Given the description of an element on the screen output the (x, y) to click on. 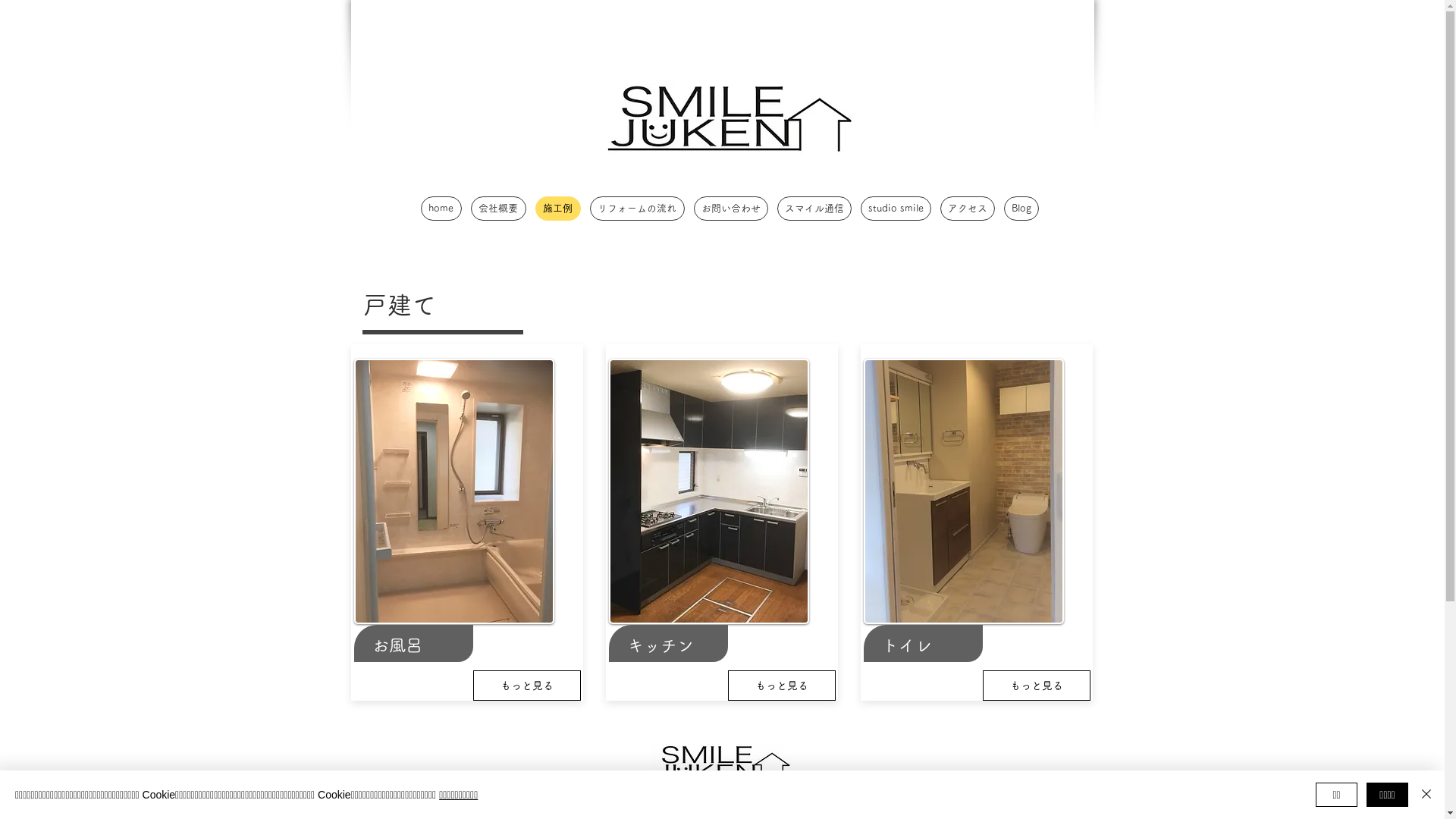
Blog Element type: text (1021, 208)
home Element type: text (440, 208)
studio smile Element type: text (894, 208)
